Given the description of an element on the screen output the (x, y) to click on. 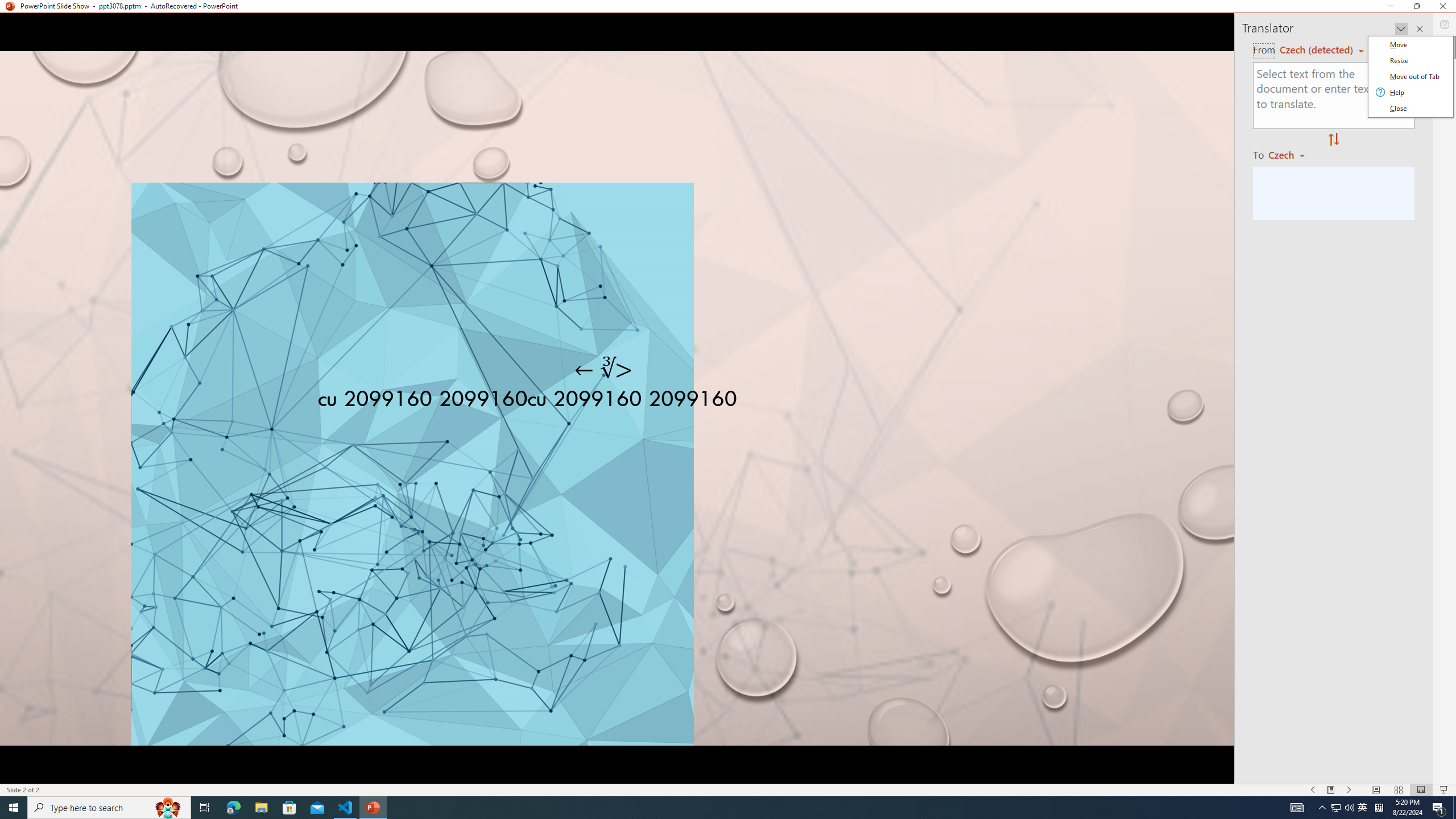
Running applications (707, 807)
Czech (1291, 154)
Slide Show Previous On (1313, 790)
